Given the description of an element on the screen output the (x, y) to click on. 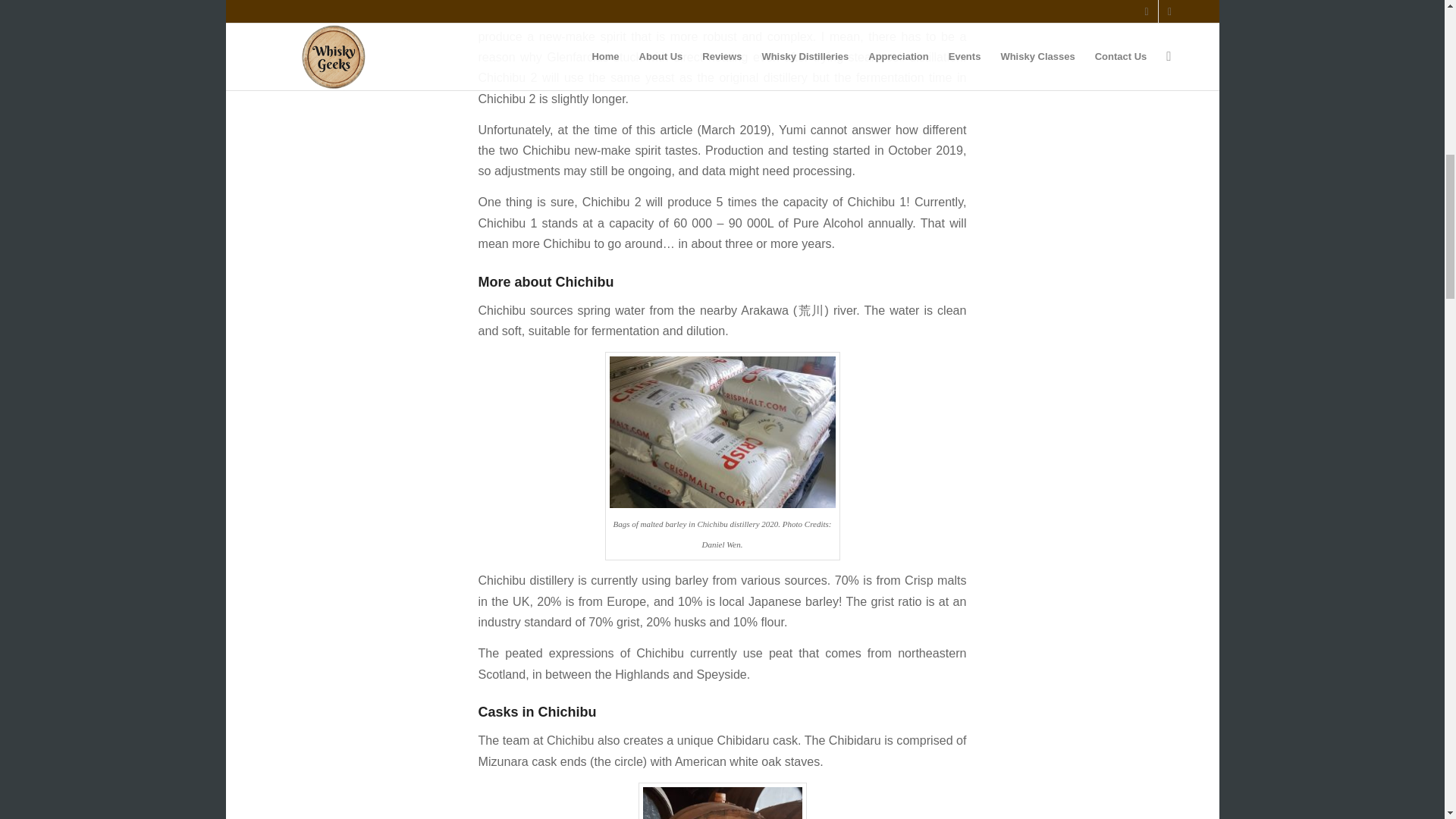
Chichibu (722, 800)
